Given the description of an element on the screen output the (x, y) to click on. 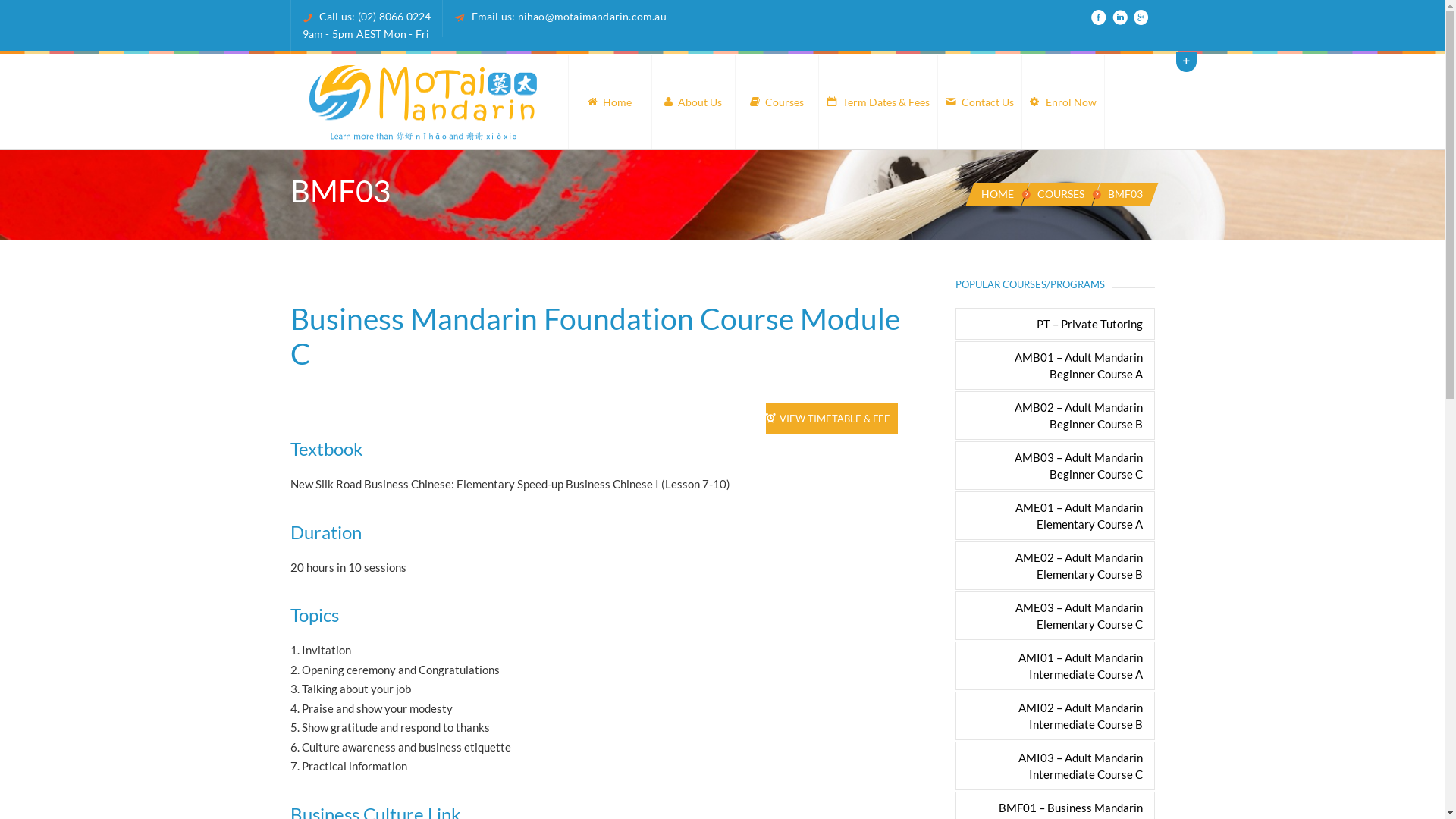
COURSES Element type: text (1060, 193)
VIEW TIMETABLE & FEE Element type: text (831, 418)
Home Element type: text (608, 101)
About Us Element type: text (692, 101)
Email us: nihao@motaimandarin.com.au Element type: text (568, 15)
Term Dates & Fees Element type: text (876, 101)
Contact Us Element type: text (979, 101)
HOME Element type: text (997, 193)
Courses Element type: text (775, 101)
Enrol Now Element type: text (1062, 101)
